Given the description of an element on the screen output the (x, y) to click on. 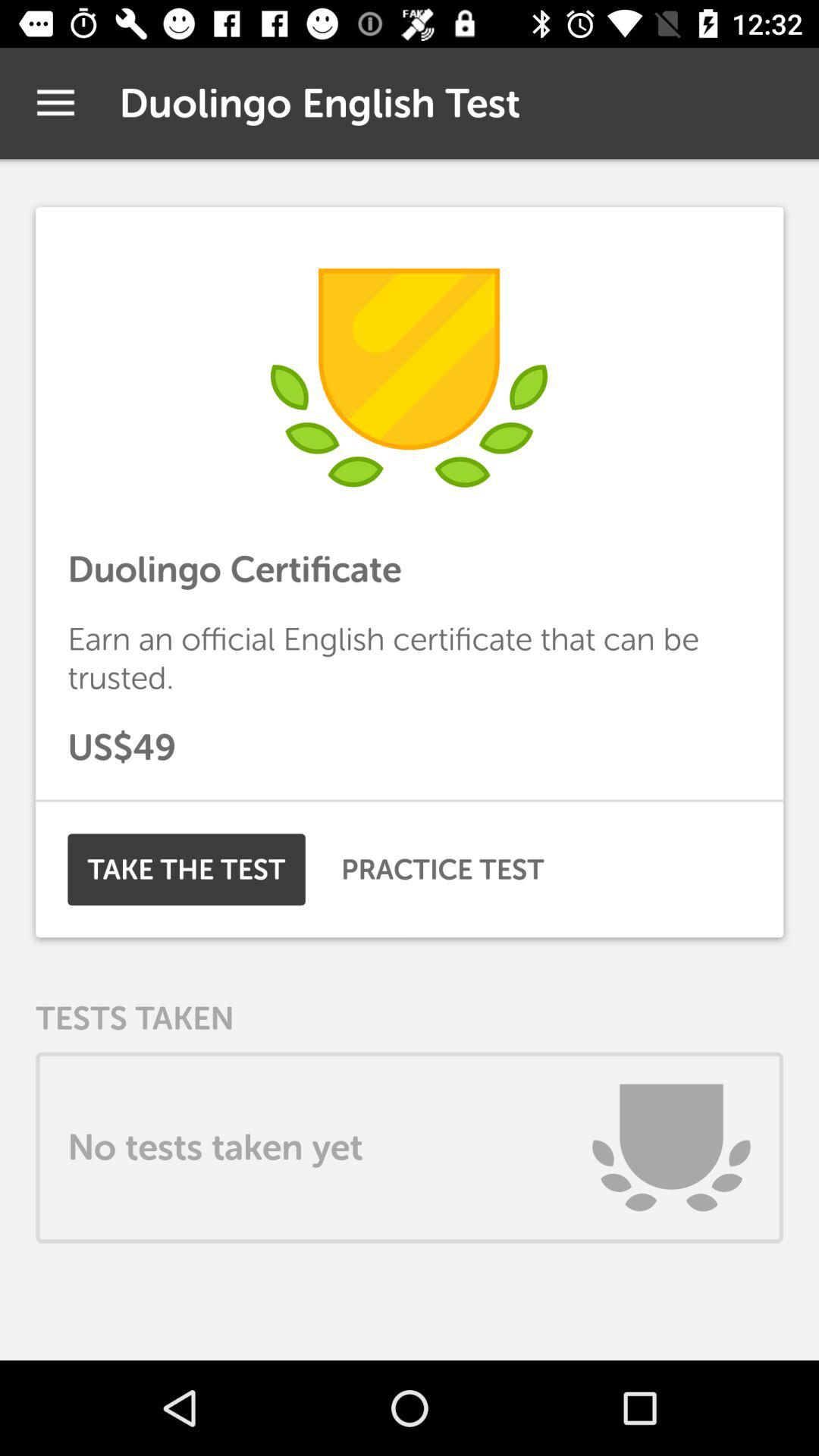
turn off item next to take the test icon (442, 869)
